Given the description of an element on the screen output the (x, y) to click on. 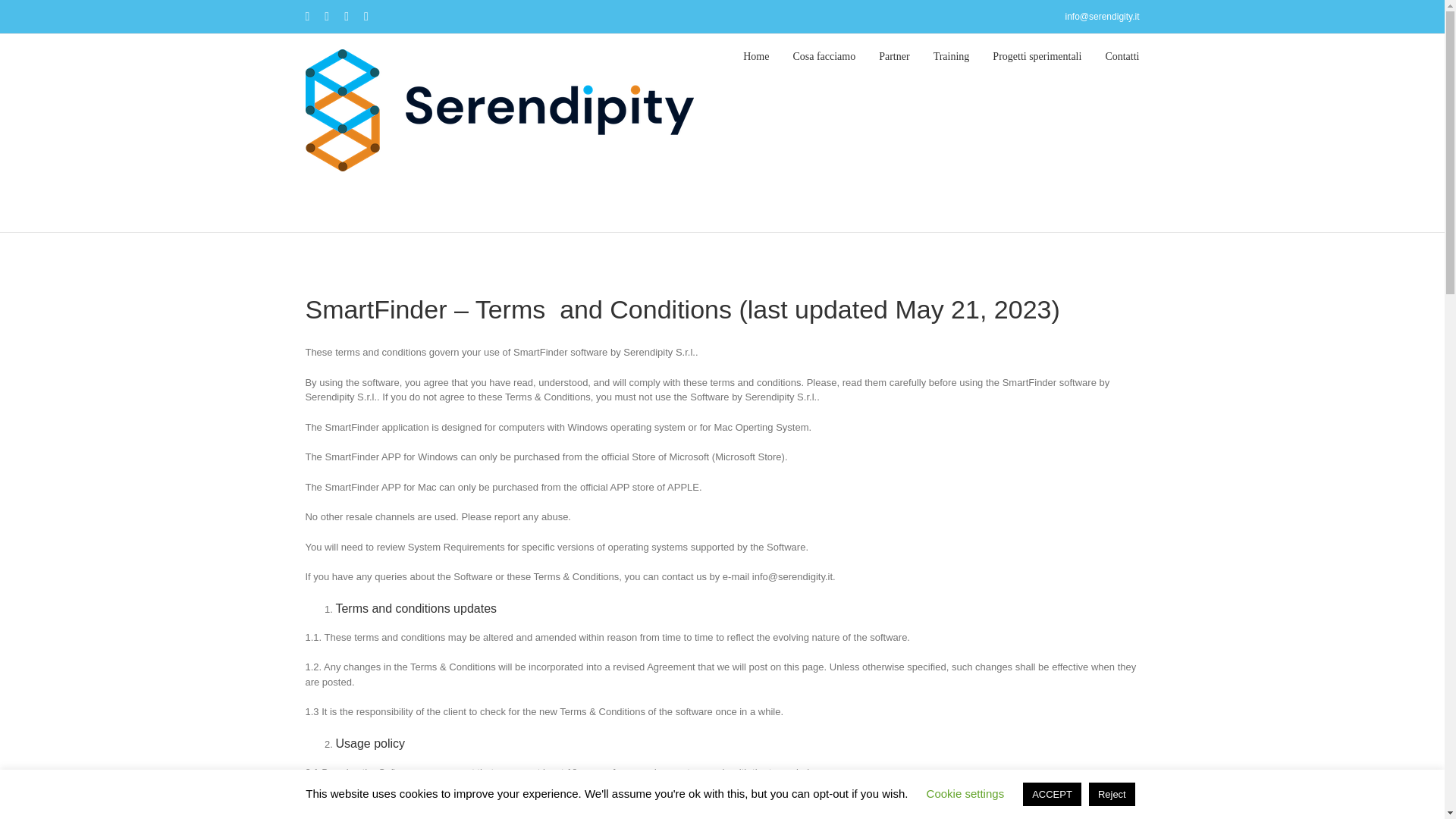
Reject (1112, 793)
Cookie settings (965, 793)
Progetti sperimentali (1036, 56)
Cosa facciamo (824, 56)
ACCEPT (1052, 793)
